Given the description of an element on the screen output the (x, y) to click on. 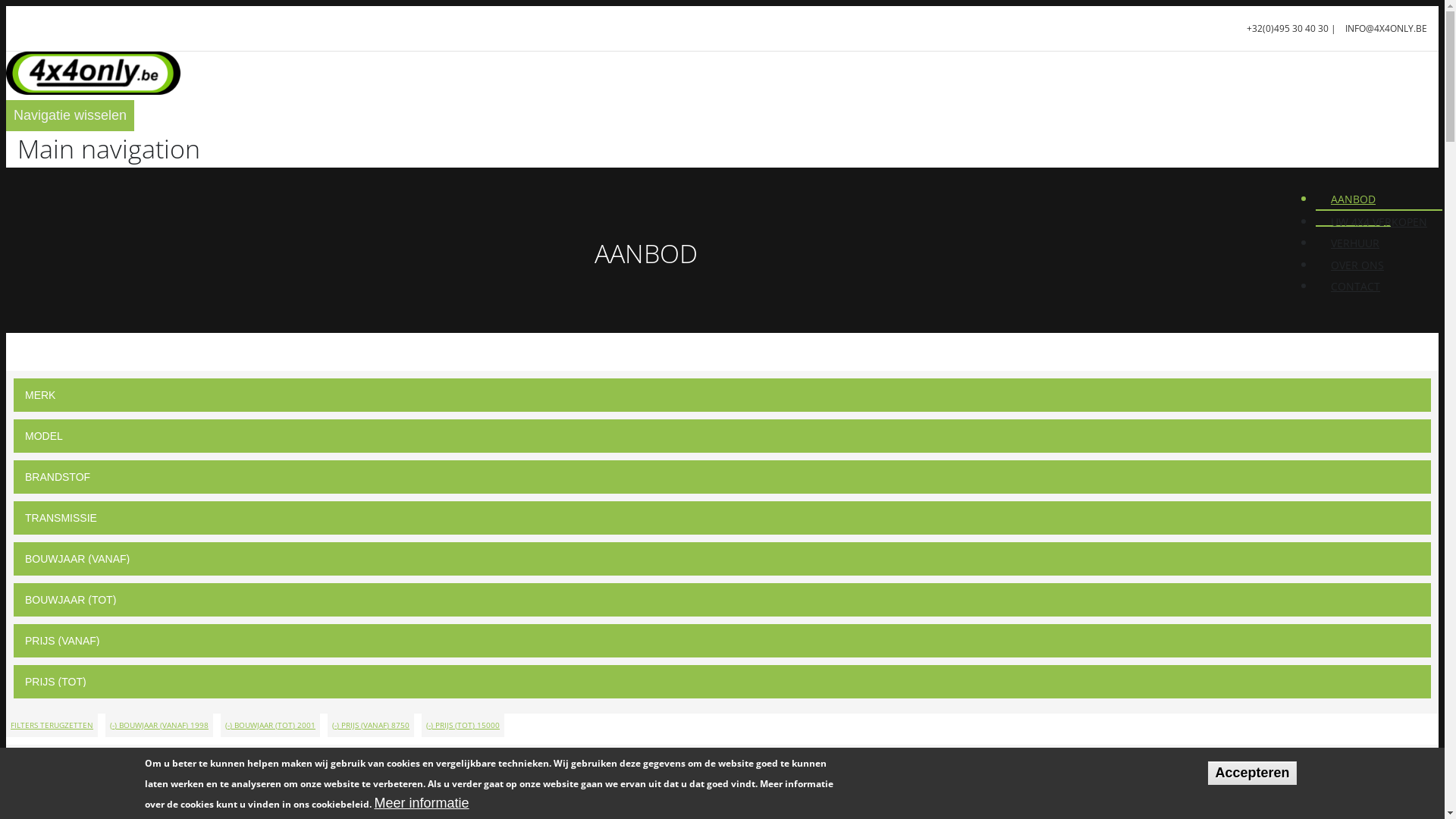
(-) PRIJS (TOT) 15000 Element type: text (462, 724)
FILTERS TERUGZETTEN Element type: text (51, 724)
OVER ONS Element type: text (1357, 265)
CONTACT Element type: text (1355, 286)
Navigatie wisselen Element type: text (70, 115)
Home Element type: hover (93, 89)
Accepteren Element type: text (1251, 772)
(-) BOUWJAAR (TOT) 2001 Element type: text (270, 724)
UW 4X4 VERKOPEN Element type: text (1378, 222)
INFO@4X4ONLY.BE Element type: text (1386, 27)
VERHUUR Element type: text (1354, 243)
Meer informatie Element type: text (421, 804)
Overslaan en naar de inhoud gaan Element type: text (6, 6)
(-) PRIJS (VANAF) 8750 Element type: text (370, 724)
AANBOD Element type: text (1352, 199)
+32(0)495 30 40 30 Element type: text (1287, 27)
(-) BOUWJAAR (VANAF) 1998 Element type: text (158, 724)
